Given the description of an element on the screen output the (x, y) to click on. 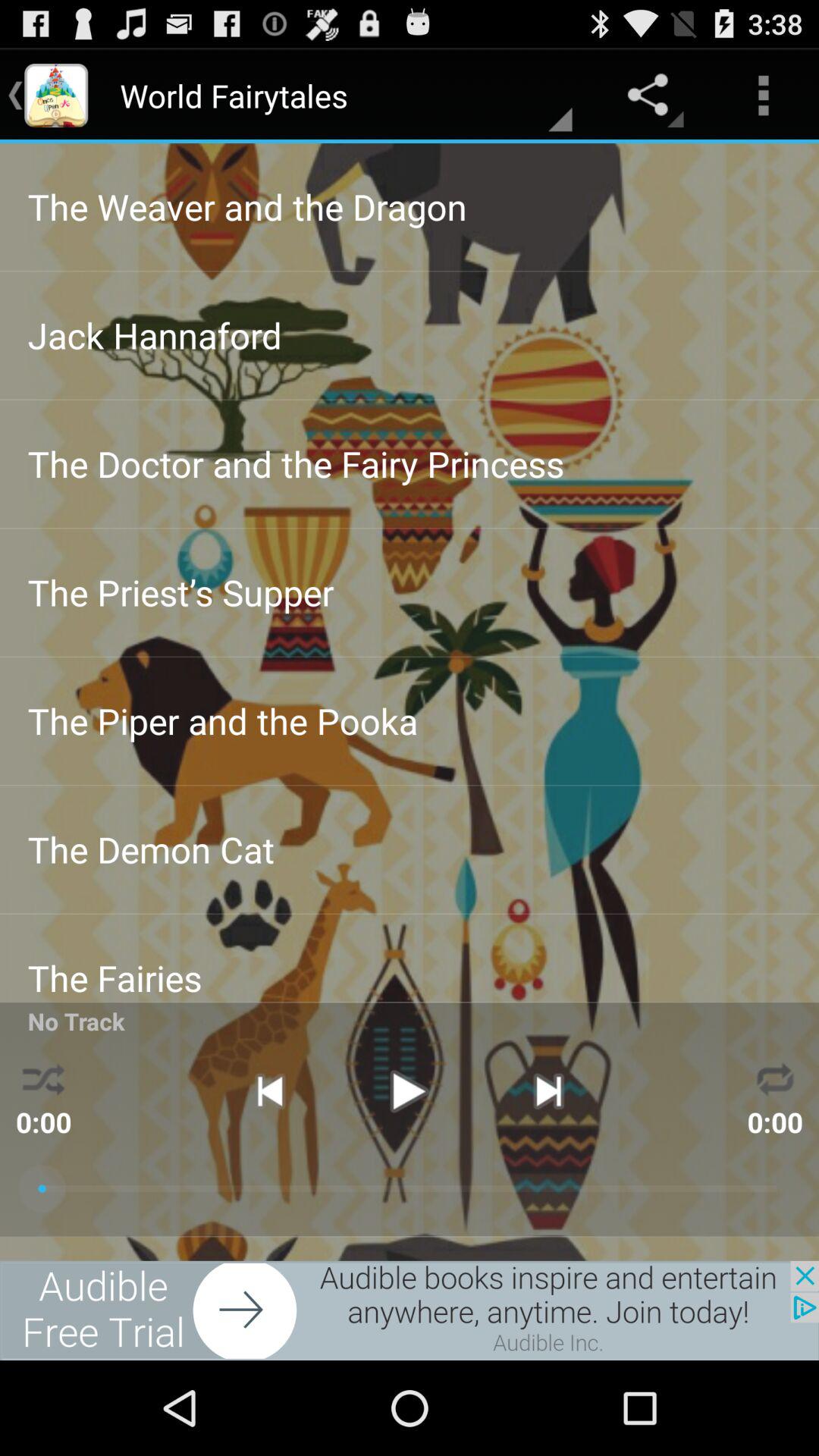
click on advertisement (409, 1310)
